Given the description of an element on the screen output the (x, y) to click on. 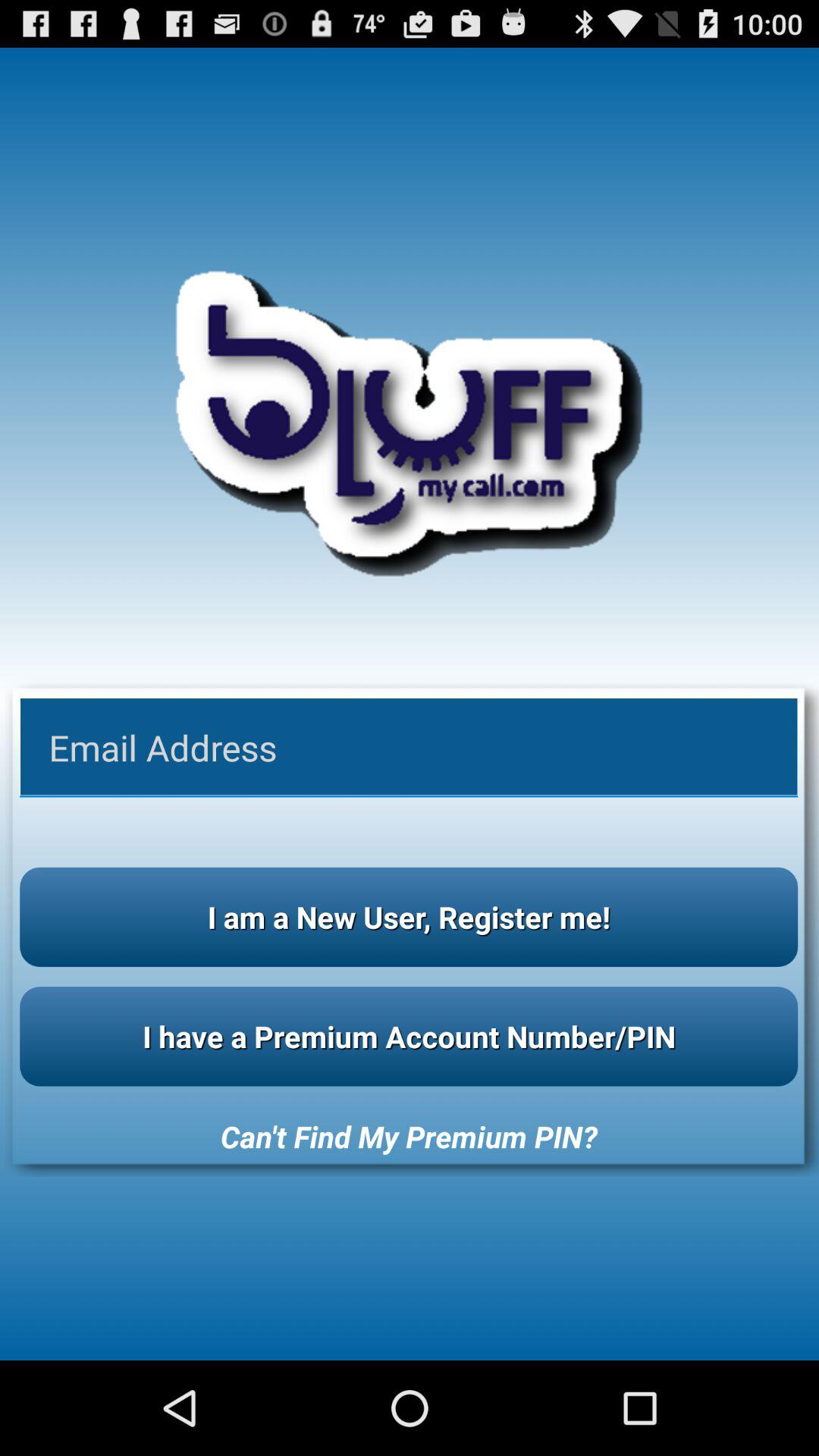
turn off icon below i have a (408, 1136)
